Given the description of an element on the screen output the (x, y) to click on. 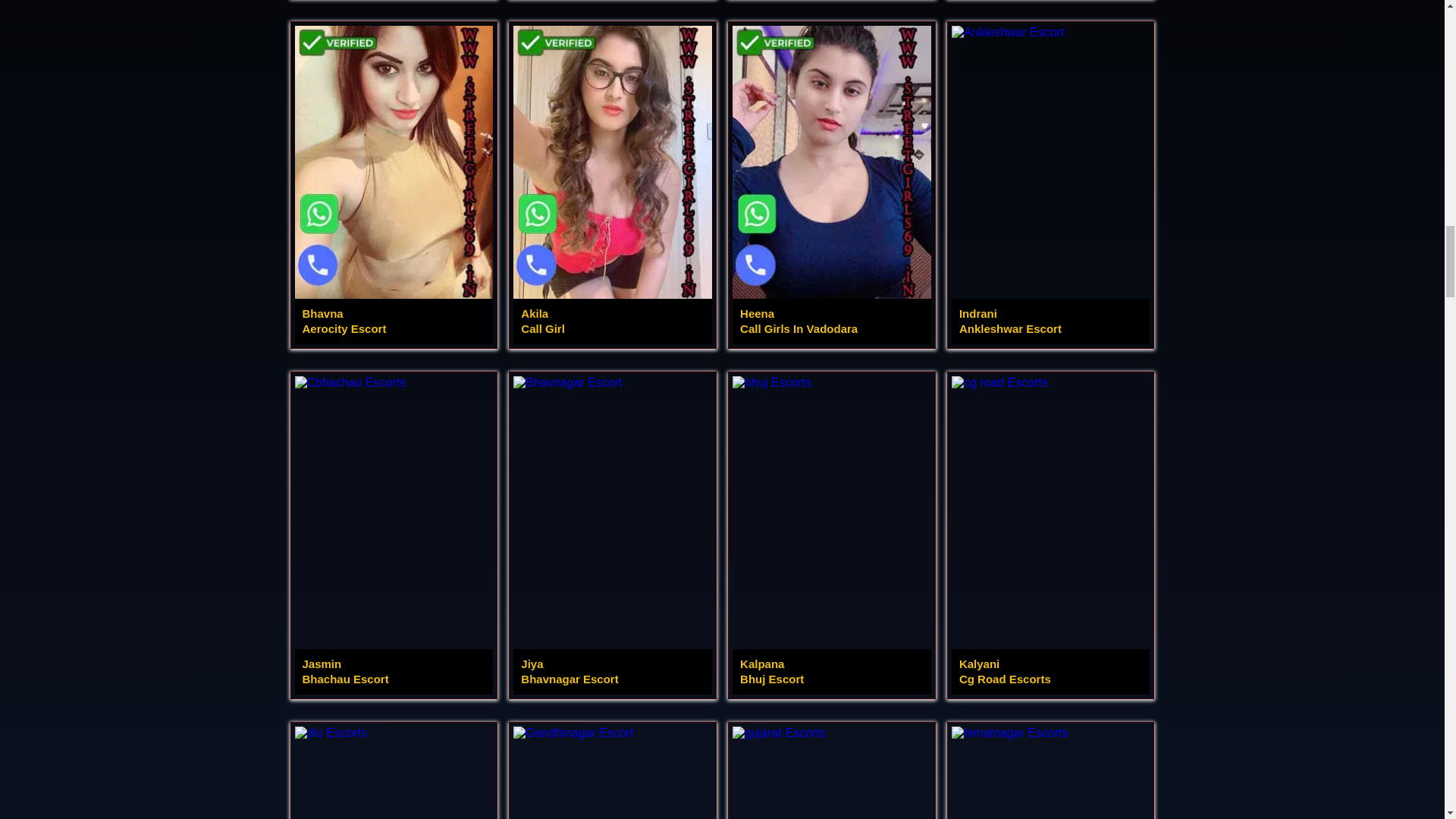
himatnagar Escorts (1051, 772)
gujarat Escorts (831, 772)
gandhinagar Escorts (1051, 772)
diu Escorts (831, 772)
